Given the description of an element on the screen output the (x, y) to click on. 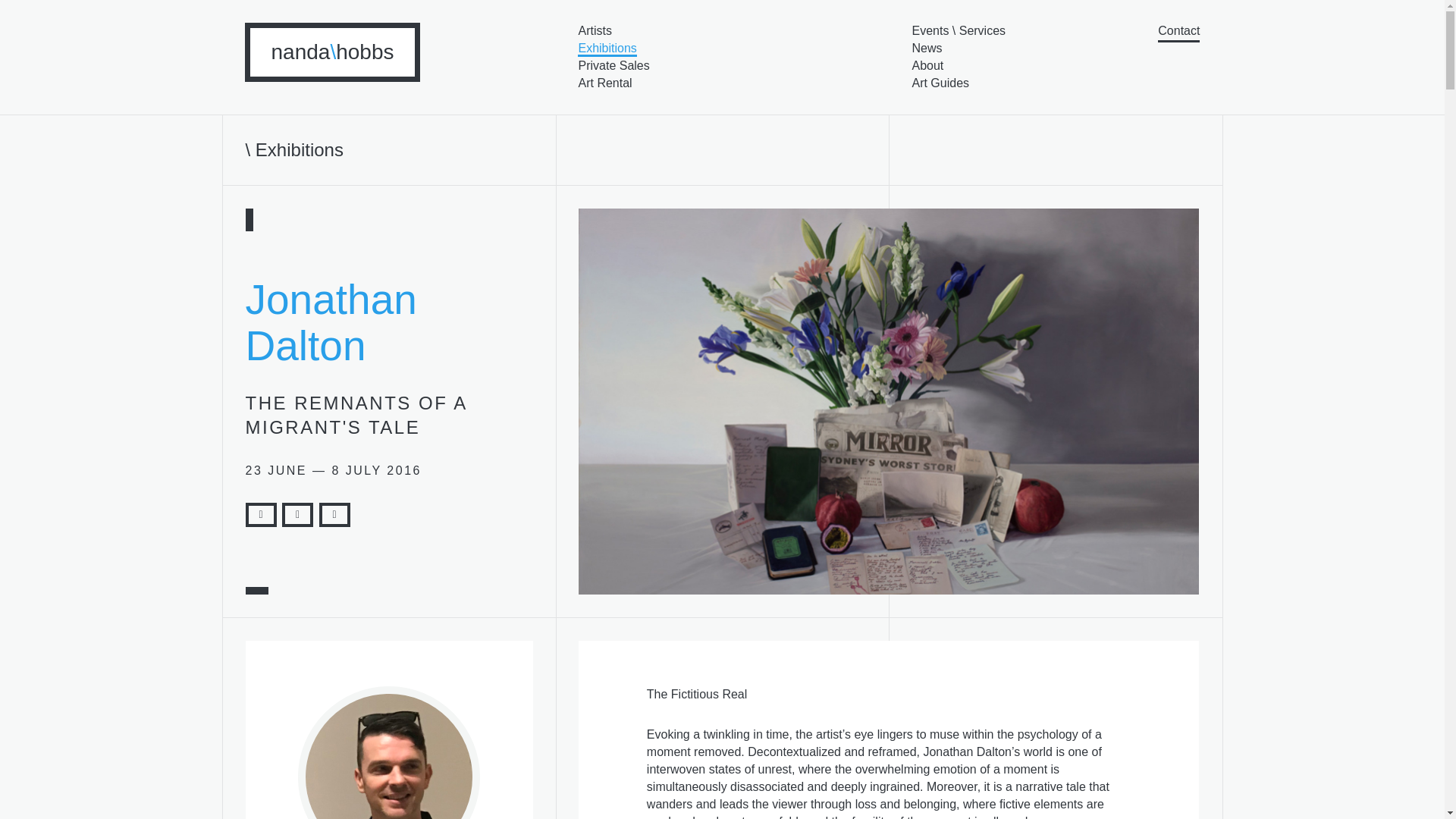
About (927, 65)
Exhibitions (299, 149)
Contact (1178, 32)
Art Guides (940, 82)
Art Rental (604, 82)
Exhibitions (607, 48)
Private Sales (613, 65)
News (926, 47)
Artists (594, 30)
Jonathan Dalton (331, 322)
